Given the description of an element on the screen output the (x, y) to click on. 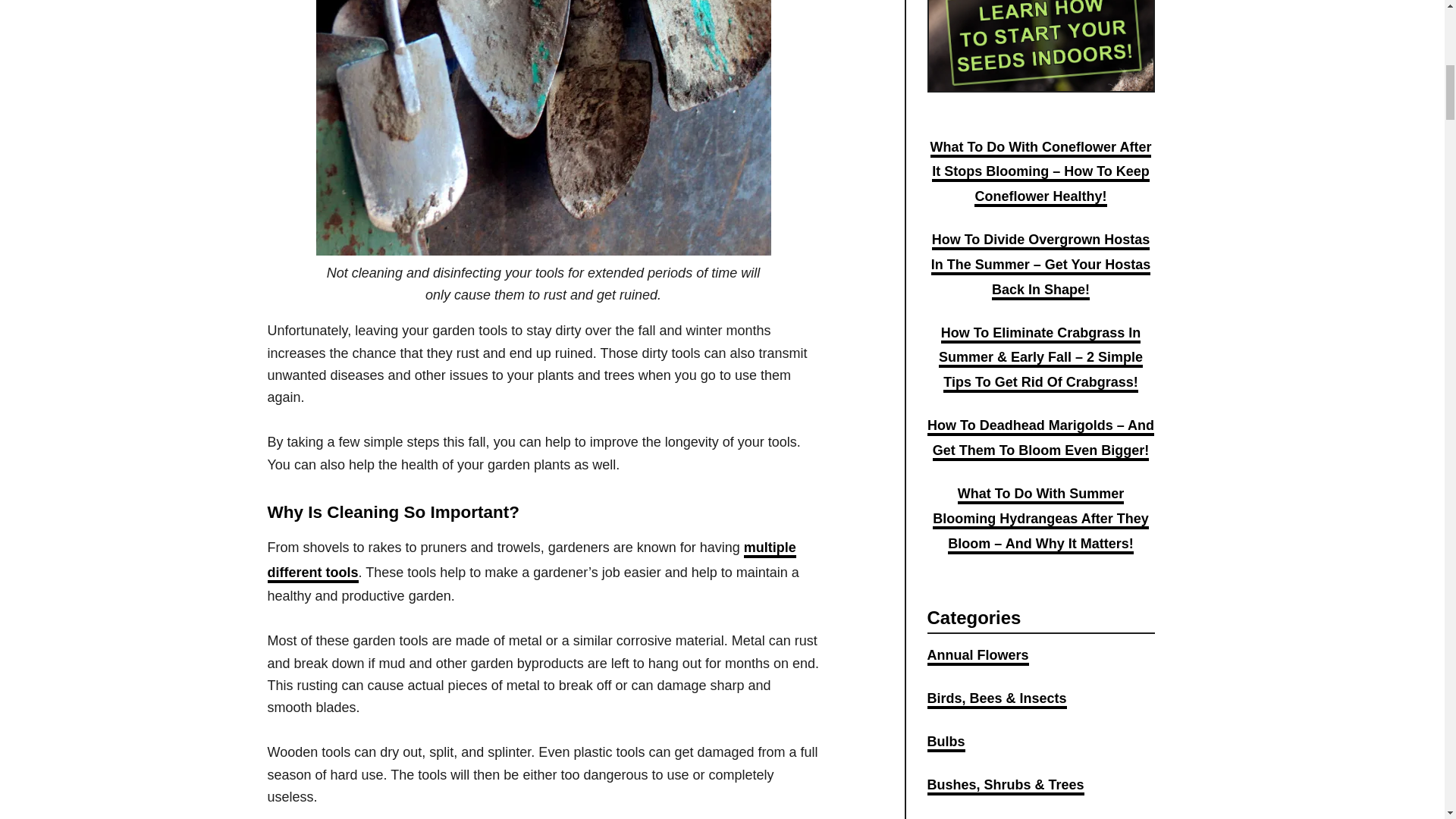
Annual Flowers (976, 656)
Bulbs (944, 742)
multiple different tools (530, 561)
